Given the description of an element on the screen output the (x, y) to click on. 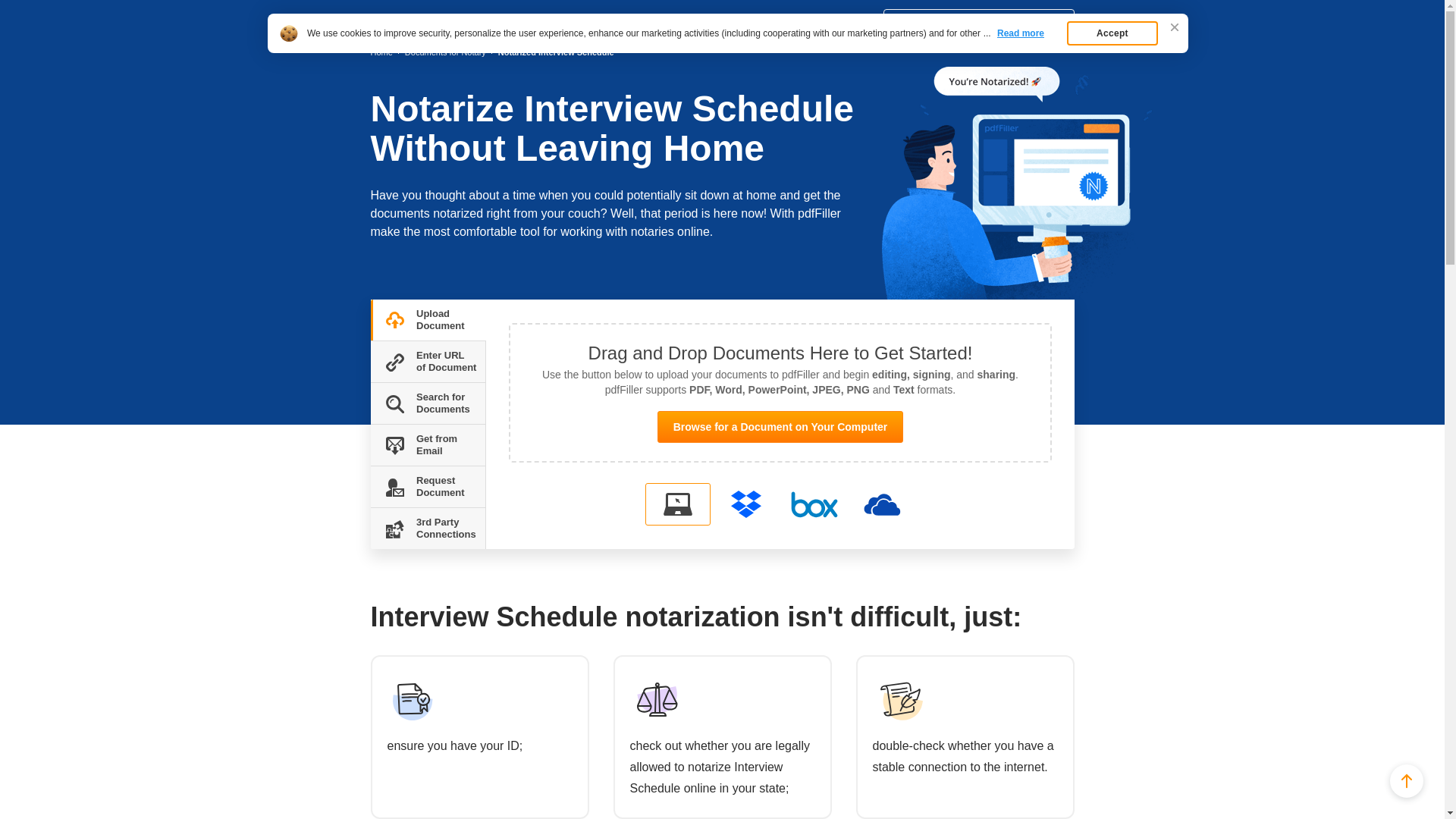
Scroll Up (1406, 780)
